Given the description of an element on the screen output the (x, y) to click on. 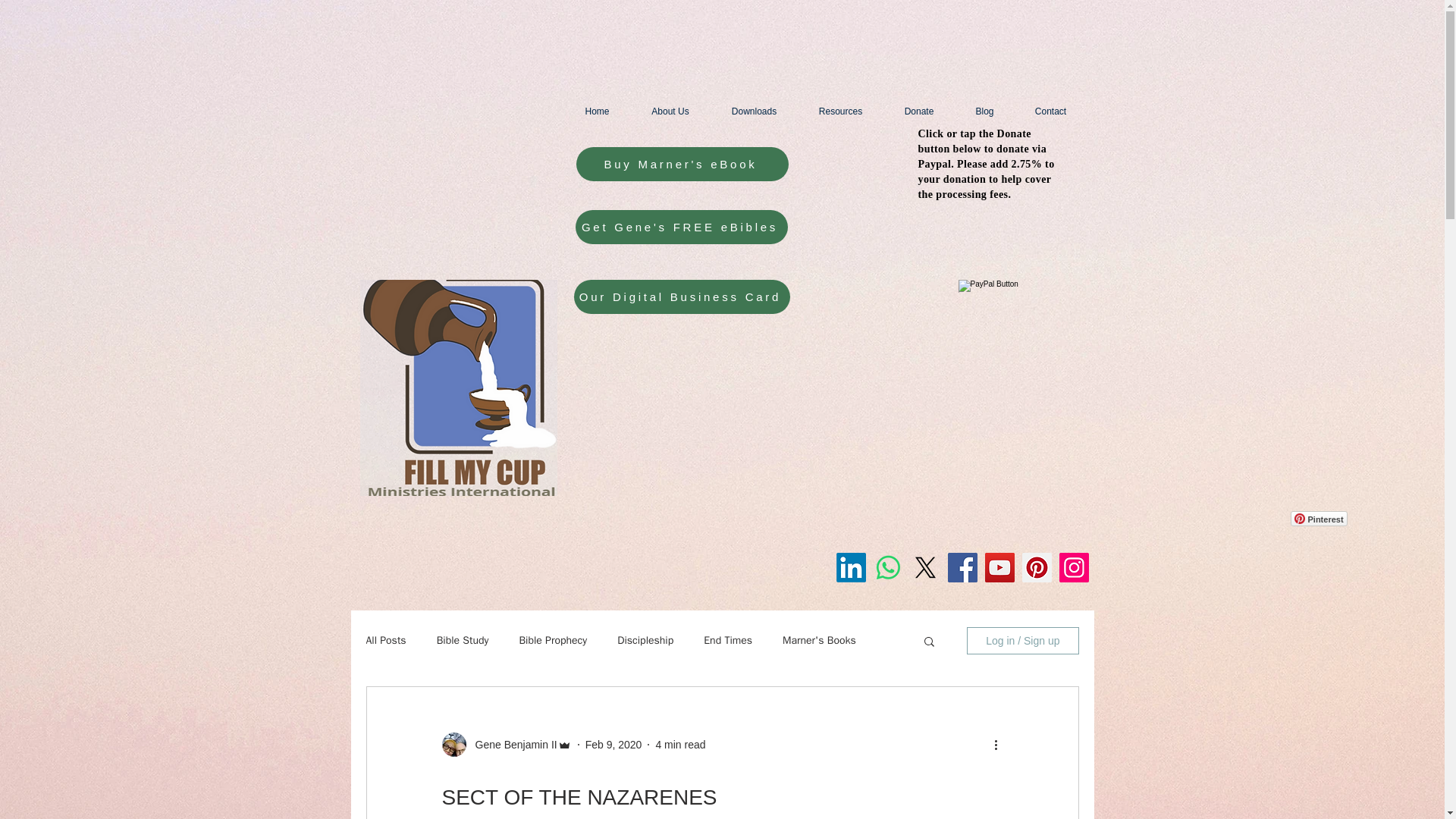
Buy Marner's eBook (682, 163)
Our Digital Business Card (681, 296)
Gene Benjamin II (510, 744)
Feb 9, 2020 (613, 744)
Give (68, 19)
Marner's Books (819, 640)
Pinterest (1319, 518)
All Posts (385, 640)
Contact (1050, 111)
Pinterest (1319, 518)
Downloads (753, 111)
Bible Study (462, 640)
Get Gene's FREE eBibles (681, 226)
About Us (670, 111)
Resources (839, 111)
